Given the description of an element on the screen output the (x, y) to click on. 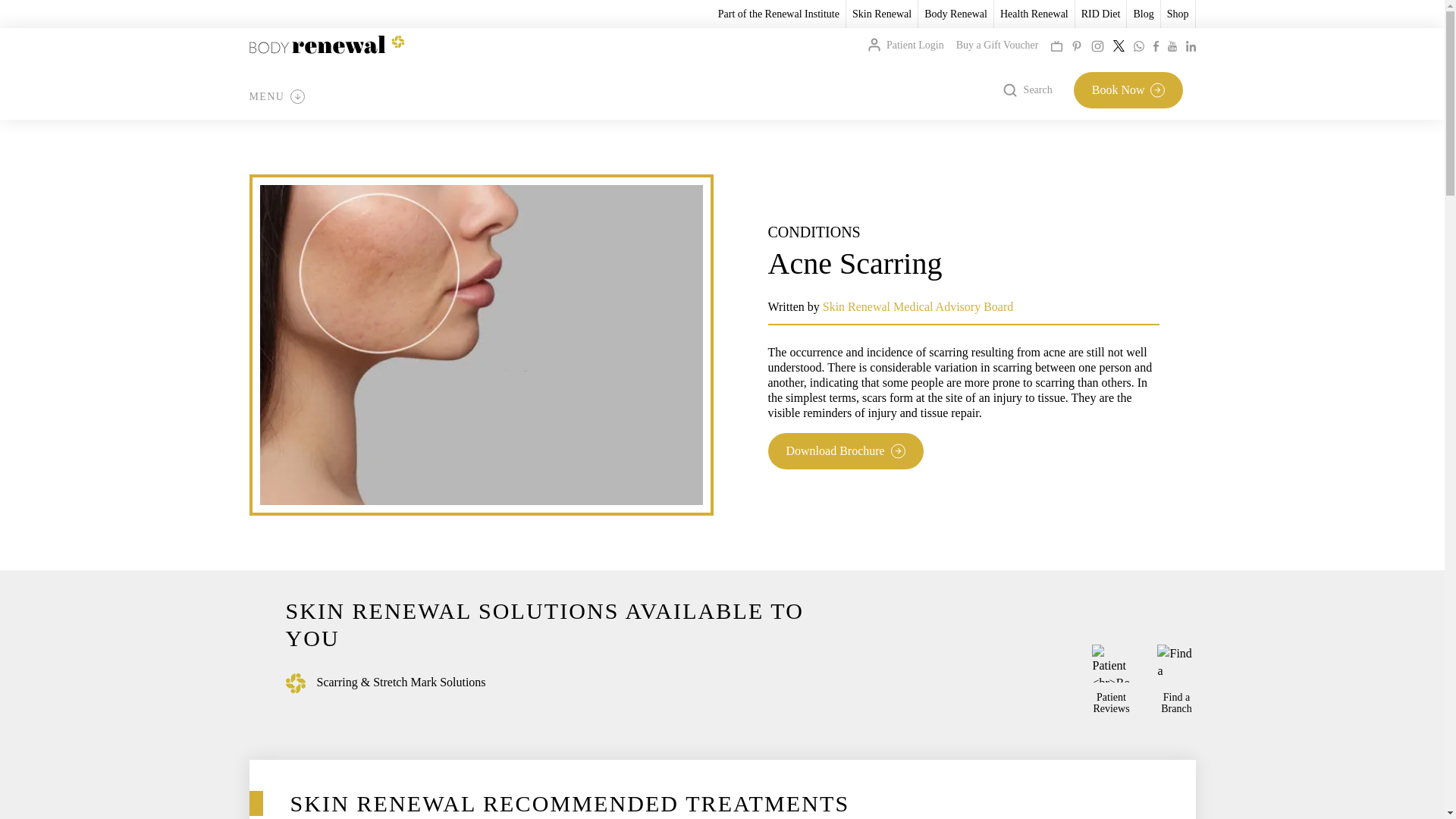
Search (1027, 89)
Shop (1178, 13)
Skin Renewal (881, 13)
RID Diet (1101, 13)
MENU (276, 96)
Buy a Gift Voucher (997, 45)
Book Now (1128, 90)
Part of the Renewal Institute (778, 13)
Health Renewal (1034, 13)
Patient Login (905, 45)
